Given the description of an element on the screen output the (x, y) to click on. 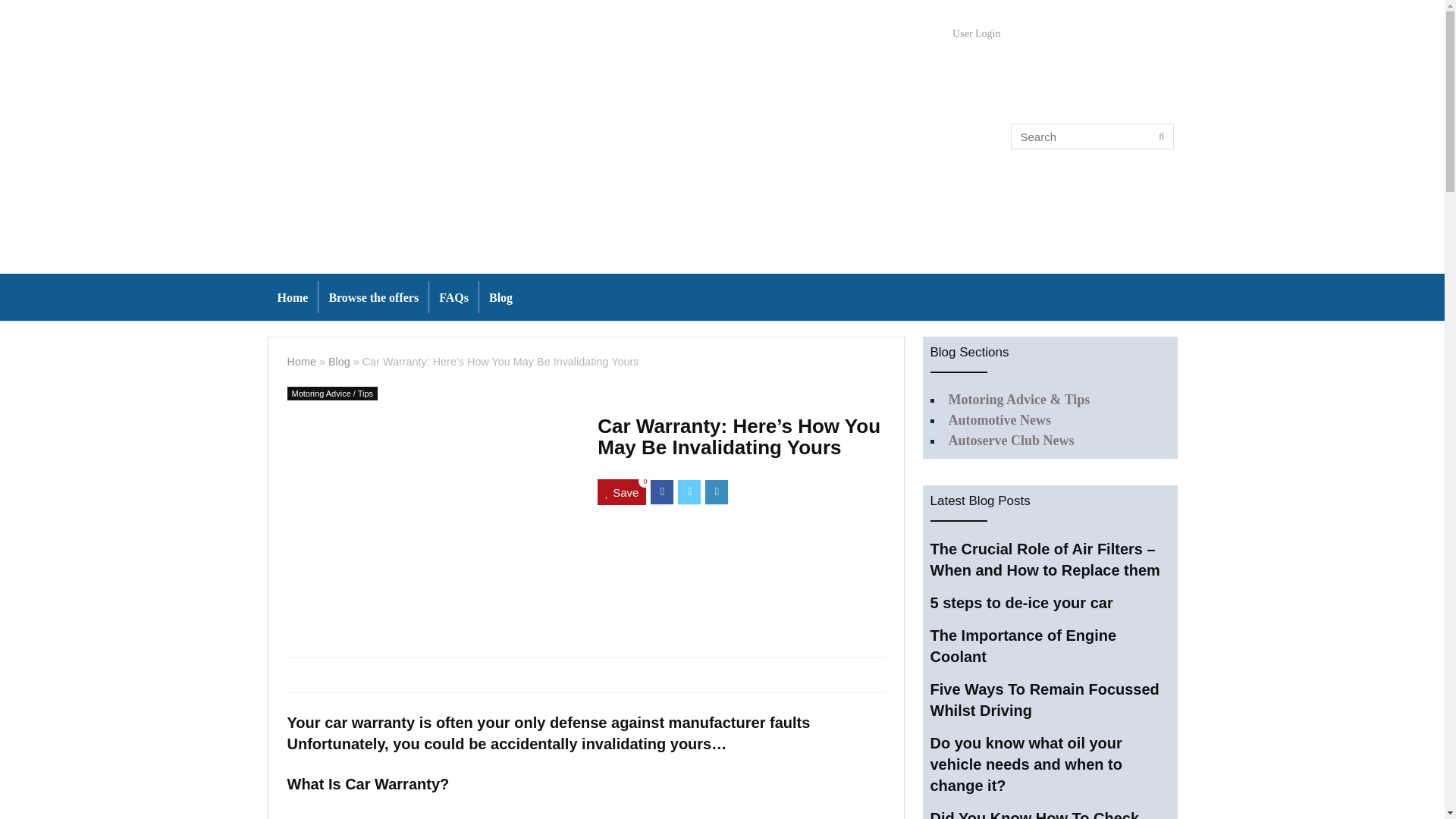
The Importance of Engine Coolant (1023, 646)
Autoserve Club News (1010, 440)
Five Ways To Remain Focussed Whilst Driving (1044, 699)
Automotive News (998, 419)
Blog (500, 296)
Home (300, 361)
FAQs (454, 296)
User Login (976, 33)
Blog (339, 361)
Home (291, 296)
